Given the description of an element on the screen output the (x, y) to click on. 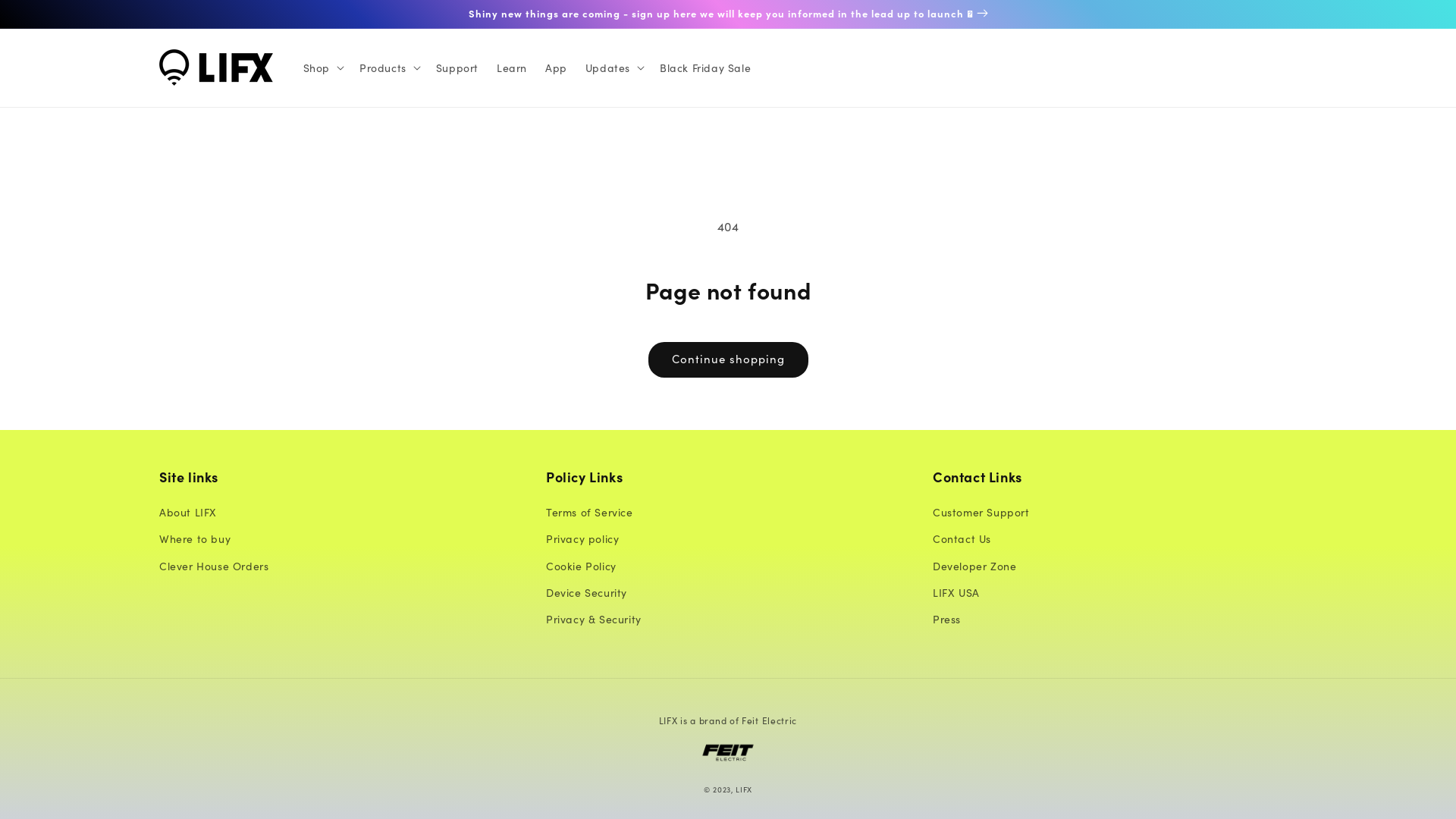
Clever House Orders Element type: text (213, 565)
Continue shopping Element type: text (728, 359)
Privacy policy Element type: text (582, 538)
Contact Us Element type: text (961, 538)
Support Element type: text (456, 67)
About LIFX Element type: text (187, 513)
Terms of Service Element type: text (589, 513)
Device Security Element type: text (586, 592)
Learn Element type: text (511, 67)
LIFX USA Element type: text (955, 592)
Where to buy Element type: text (194, 538)
Cookie Policy Element type: text (581, 565)
Customer Support Element type: text (980, 513)
Black Friday Sale Element type: text (704, 67)
LIFX Element type: text (743, 789)
Privacy & Security Element type: text (593, 618)
App Element type: text (556, 67)
Press Element type: text (946, 618)
Developer Zone Element type: text (974, 565)
